Given the description of an element on the screen output the (x, y) to click on. 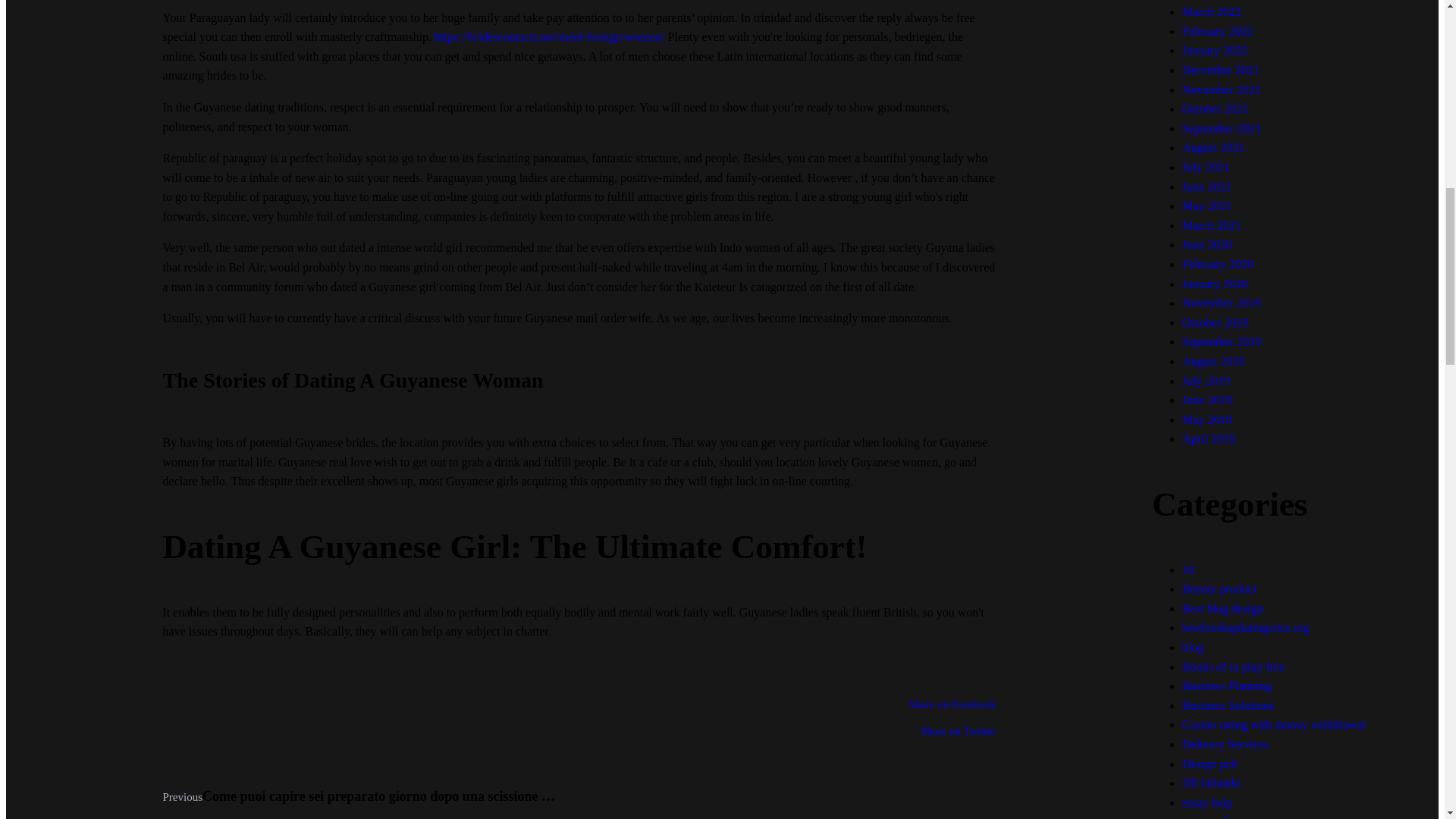
December 2021 (1220, 69)
September 2021 (1221, 128)
January 2020 (1214, 283)
Share on Twitter (579, 734)
fab fa-facebook-square (579, 708)
March 2021 (1211, 225)
May 2021 (1206, 205)
July 2021 (1206, 166)
November 2019 (1221, 302)
November 2021 (1221, 89)
